Given the description of an element on the screen output the (x, y) to click on. 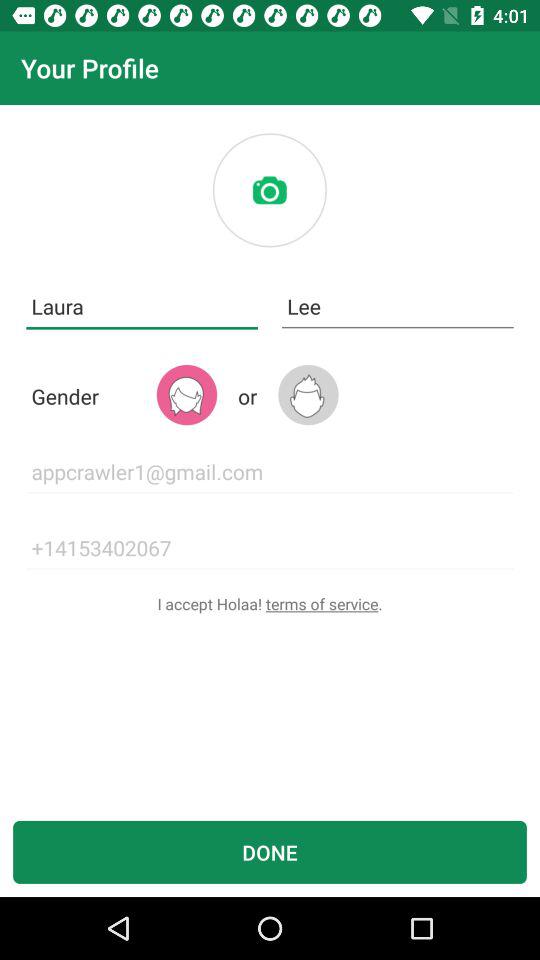
press the lee at the top right corner (397, 306)
